Given the description of an element on the screen output the (x, y) to click on. 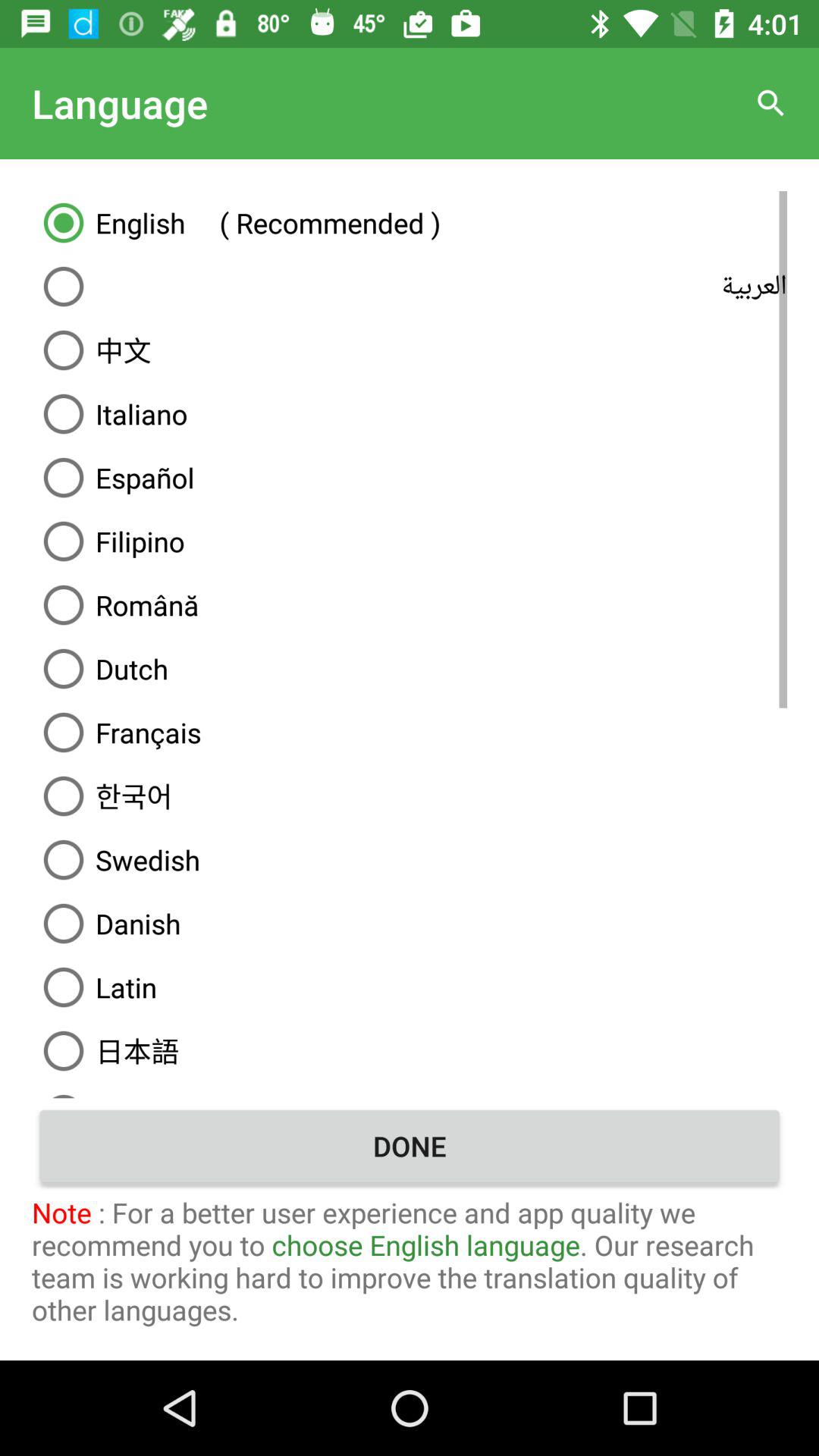
jump until danish icon (409, 923)
